Given the description of an element on the screen output the (x, y) to click on. 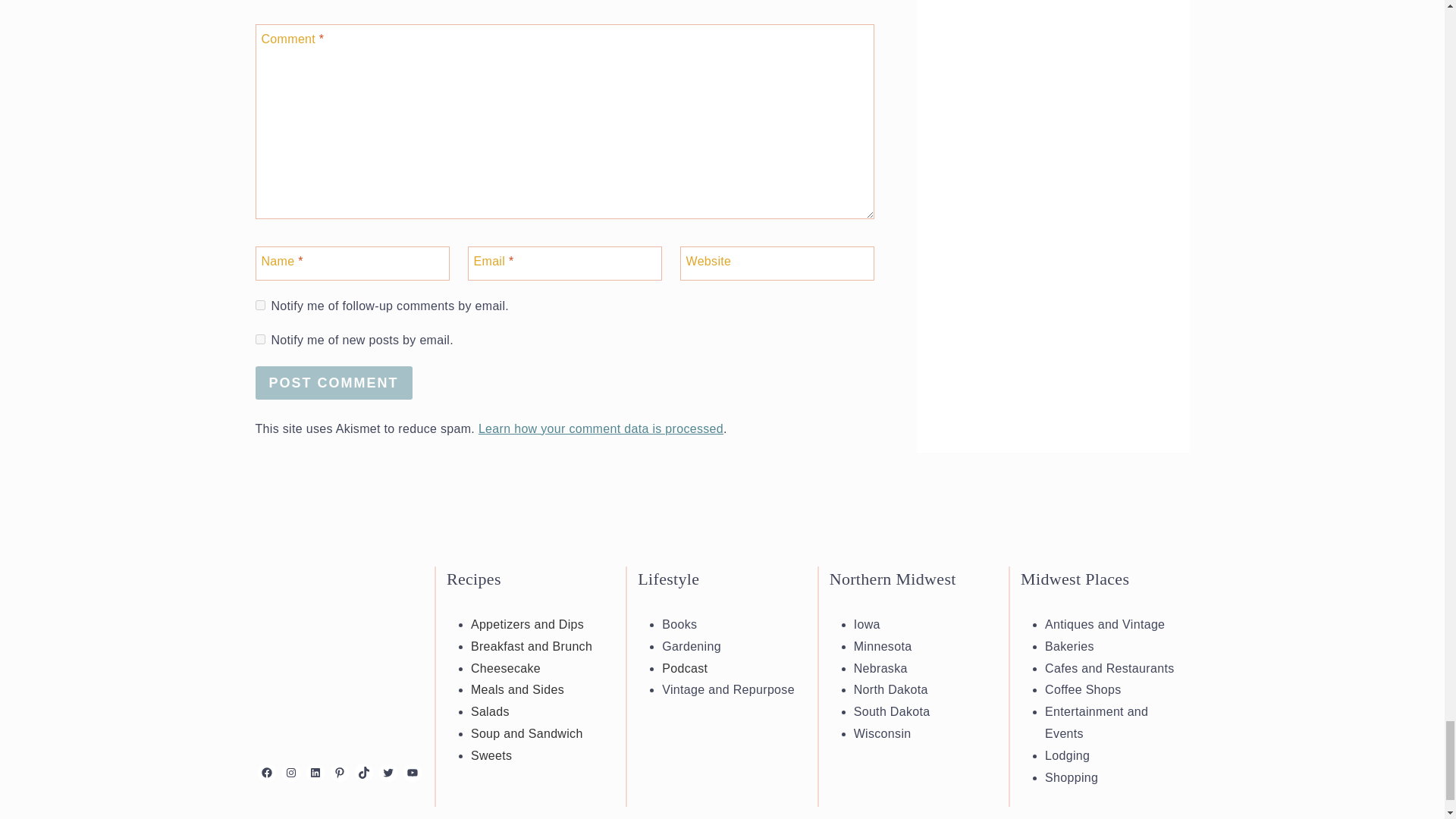
subscribe (259, 338)
Post Comment (333, 382)
subscribe (259, 305)
